Given the description of an element on the screen output the (x, y) to click on. 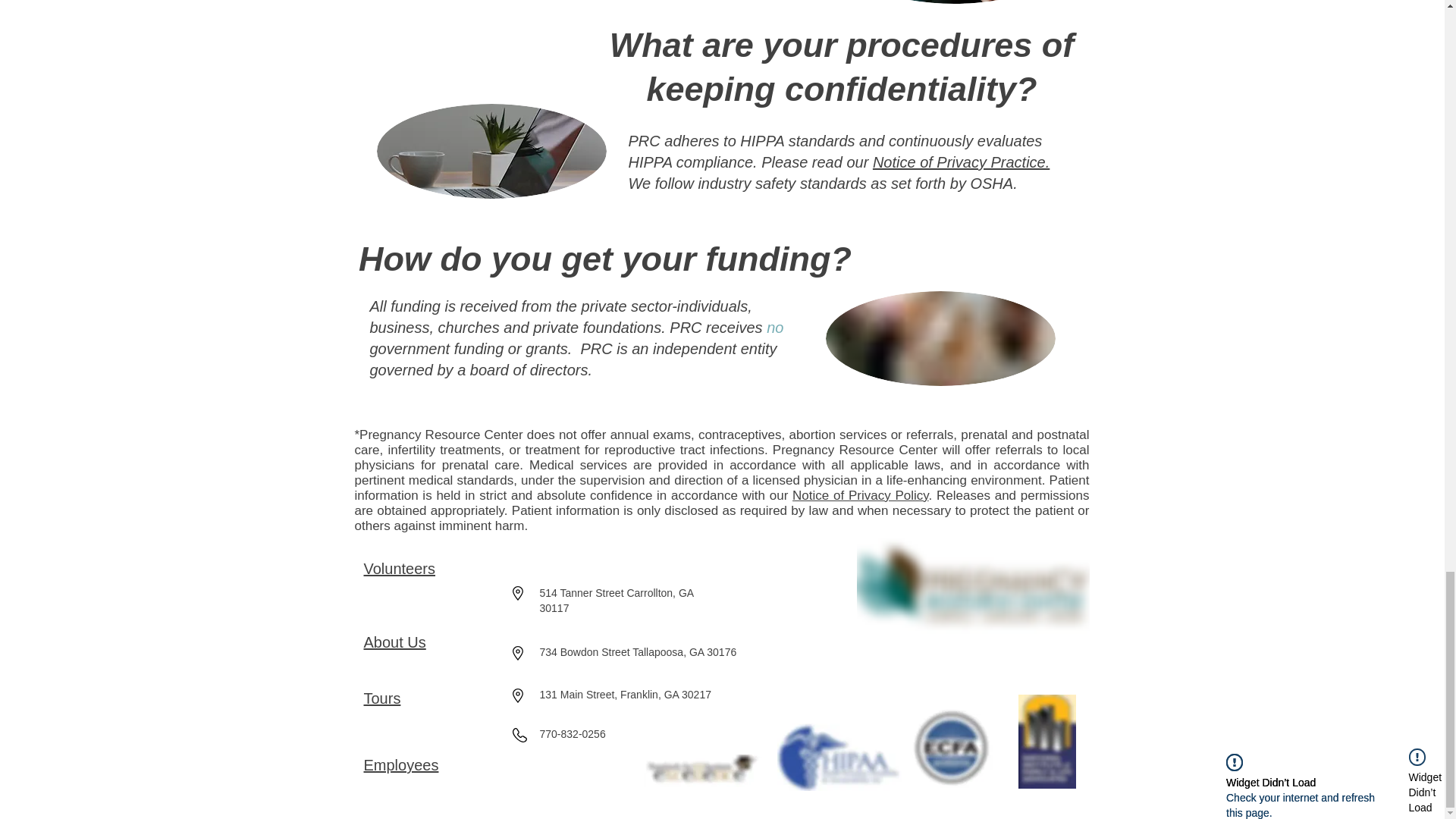
Notice of Privacy Practice. (960, 161)
Employees (401, 764)
About Us (395, 641)
Volunteers (399, 568)
Notice of Privacy Policy (860, 495)
Tours (382, 698)
